Given the description of an element on the screen output the (x, y) to click on. 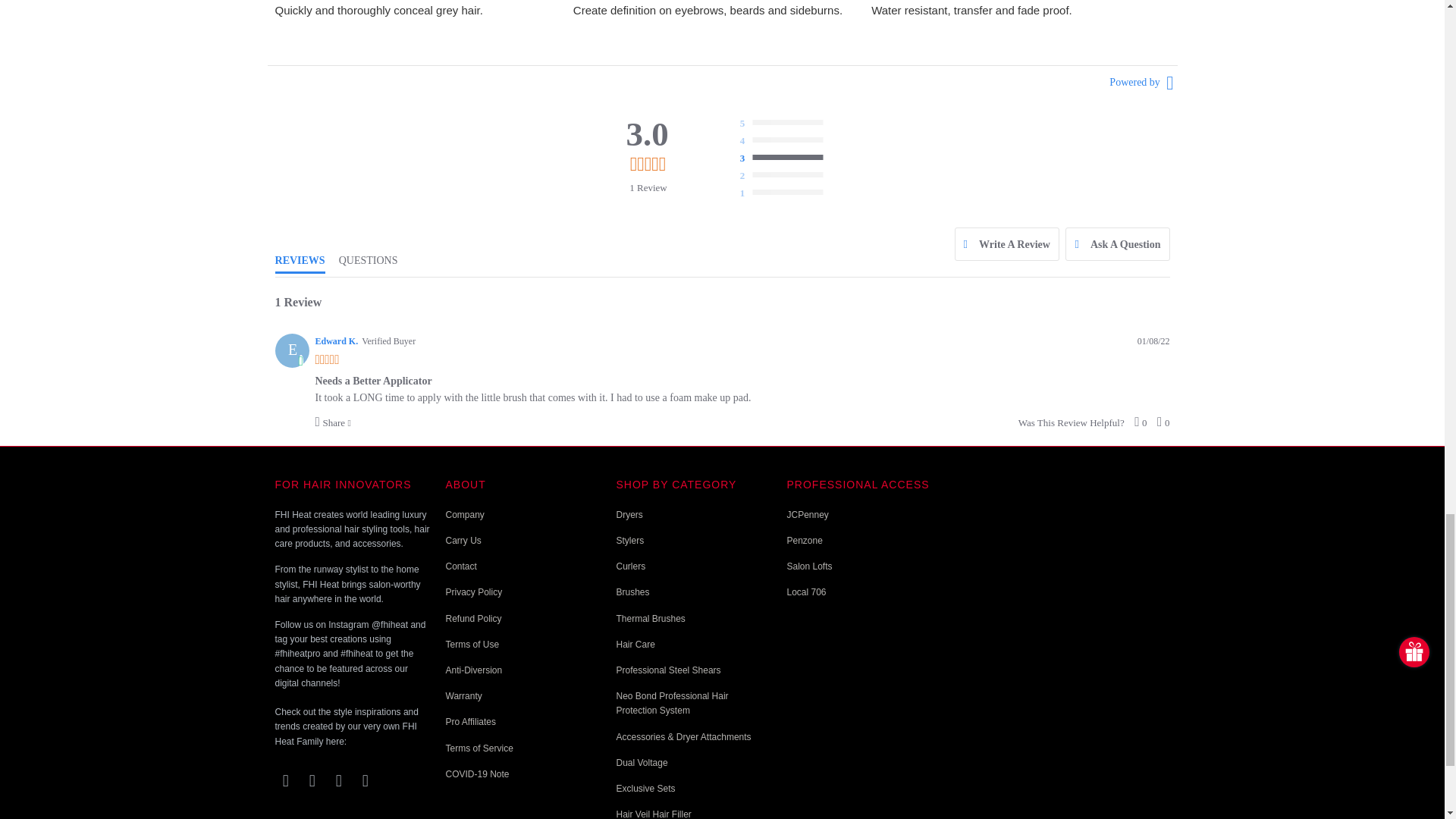
FHI Heat Pro on Twitter (286, 781)
FHI Heat Pro on Facebook (312, 781)
